Given the description of an element on the screen output the (x, y) to click on. 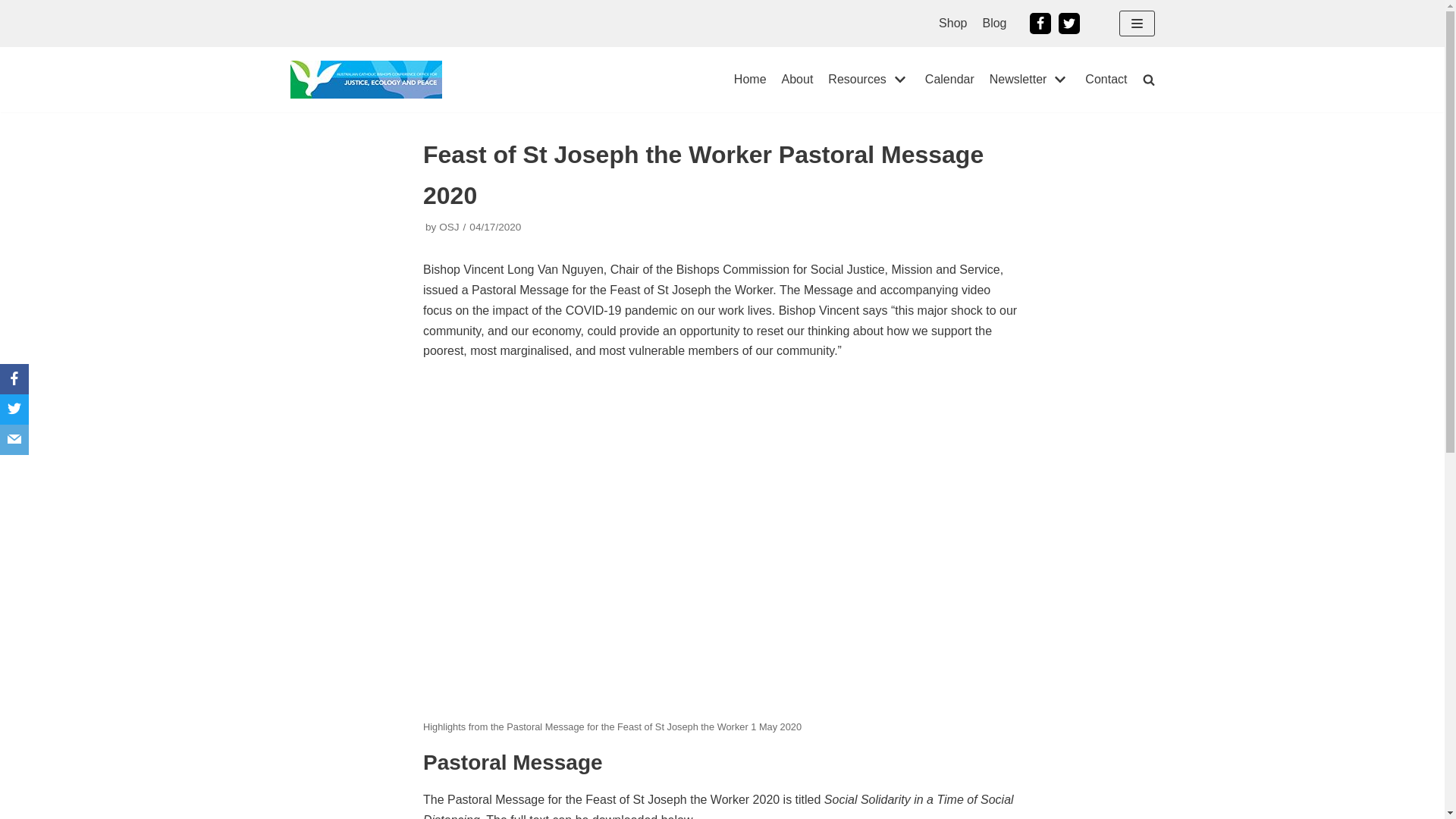
Office For Justice, Ecology and Peace Element type: hover (365, 79)
Contact Element type: text (1105, 79)
Newsletter Element type: text (1029, 79)
Calendar Element type: text (949, 79)
Twitter Element type: hover (1068, 23)
OSJ Element type: text (448, 226)
About Element type: text (797, 79)
Shop Element type: text (952, 23)
Home Element type: text (750, 79)
Navigation Menu Element type: text (1136, 23)
Blog Element type: text (994, 23)
Resources Element type: text (868, 79)
Facebook Element type: hover (1040, 23)
Pastoral Message for the Feast of St Joseph the Worker Element type: hover (722, 544)
Skip to content Element type: text (15, 7)
